Given the description of an element on the screen output the (x, y) to click on. 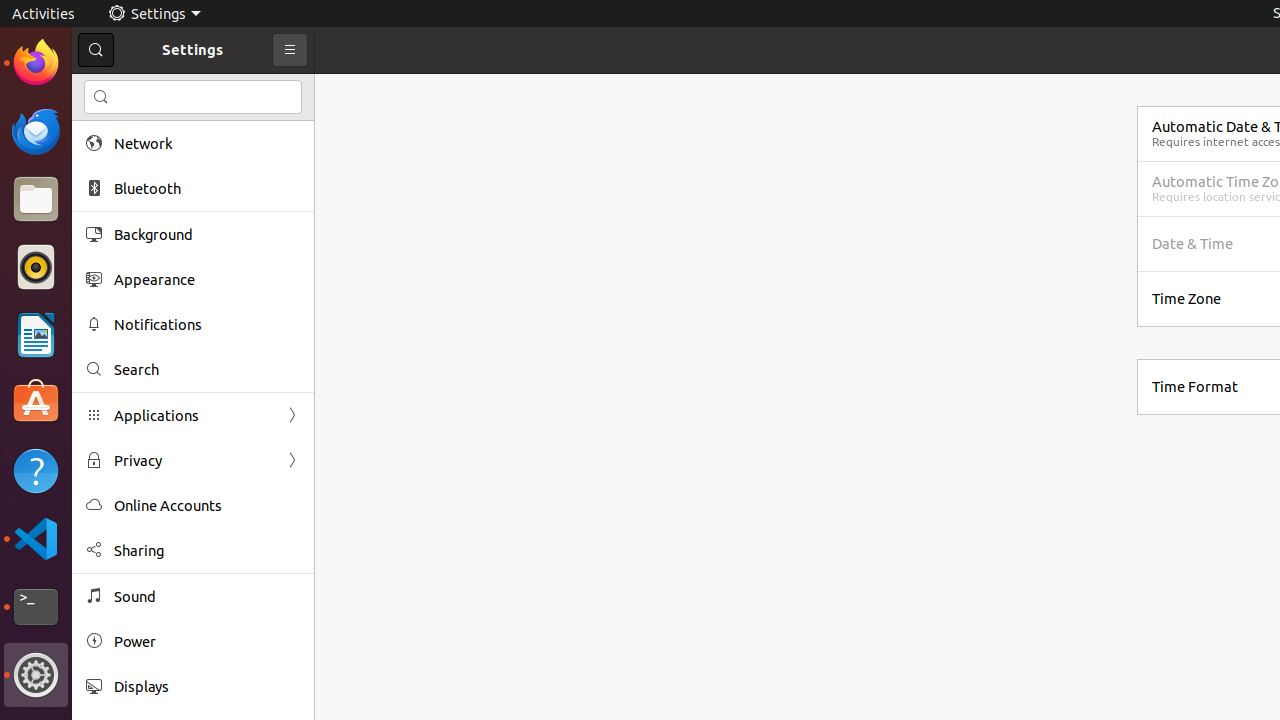
edit-find-symbolic Element type: icon (101, 97)
